Given the description of an element on the screen output the (x, y) to click on. 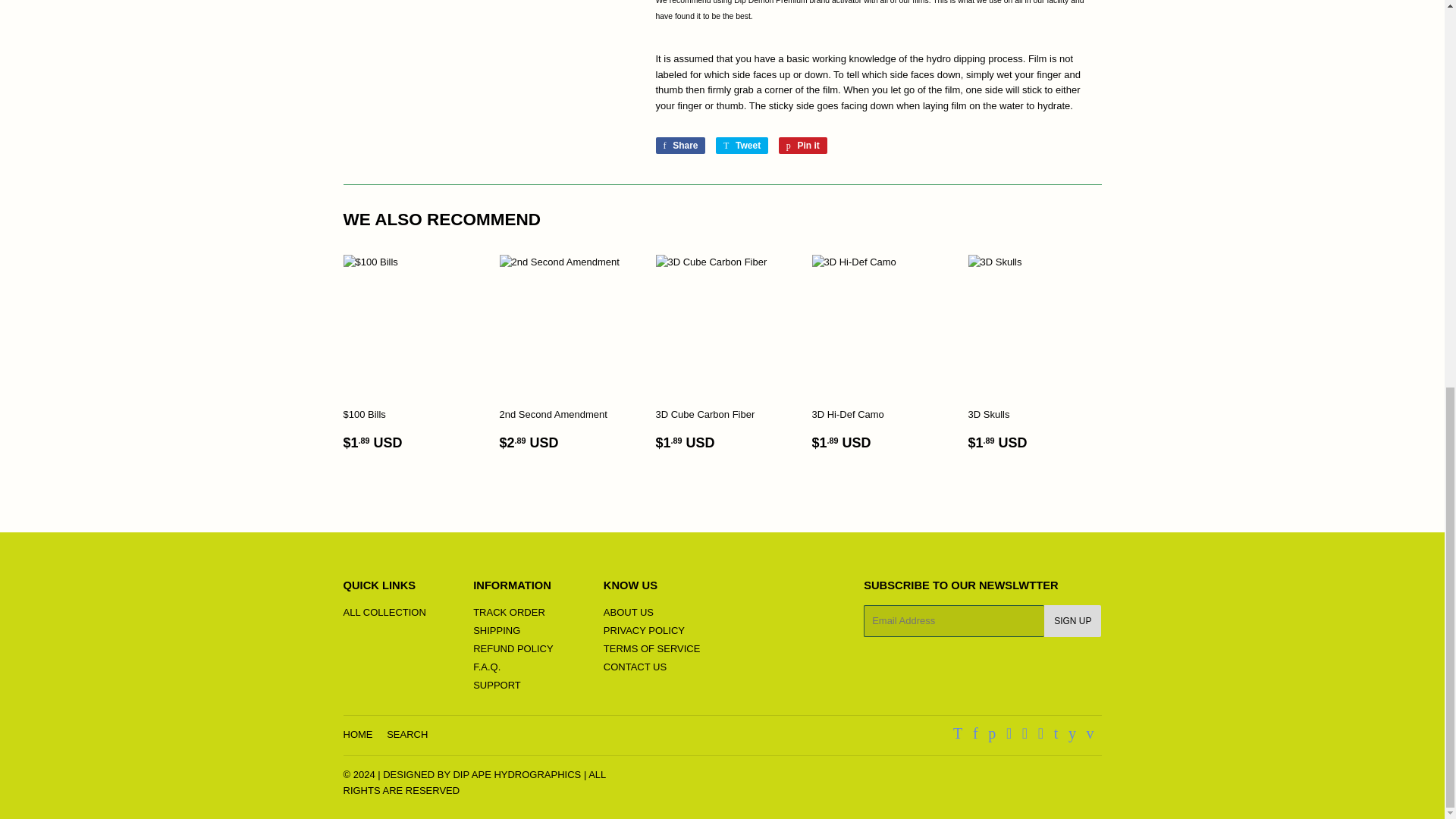
TERMS OF SERVICE (652, 648)
DIP APE HYDROGRAPHICS on Tumblr (1056, 735)
DIP APE HYDROGRAPHICS on Google (1008, 735)
ABOUT US (628, 612)
DIP APE HYDROGRAPHICS on Instagram (1024, 735)
CONTACT US (635, 666)
Tweet on Twitter (742, 145)
DIP APE HYDROGRAPHICS on Twitter (742, 145)
SHIPPING (957, 735)
DIP APE HYDROGRAPHICS on Vimeo (496, 630)
DIP APE HYDROGRAPHICS on Pinterest (1089, 735)
Share on Facebook (991, 735)
SUPPORT (679, 145)
F.A.Q. (497, 685)
